Given the description of an element on the screen output the (x, y) to click on. 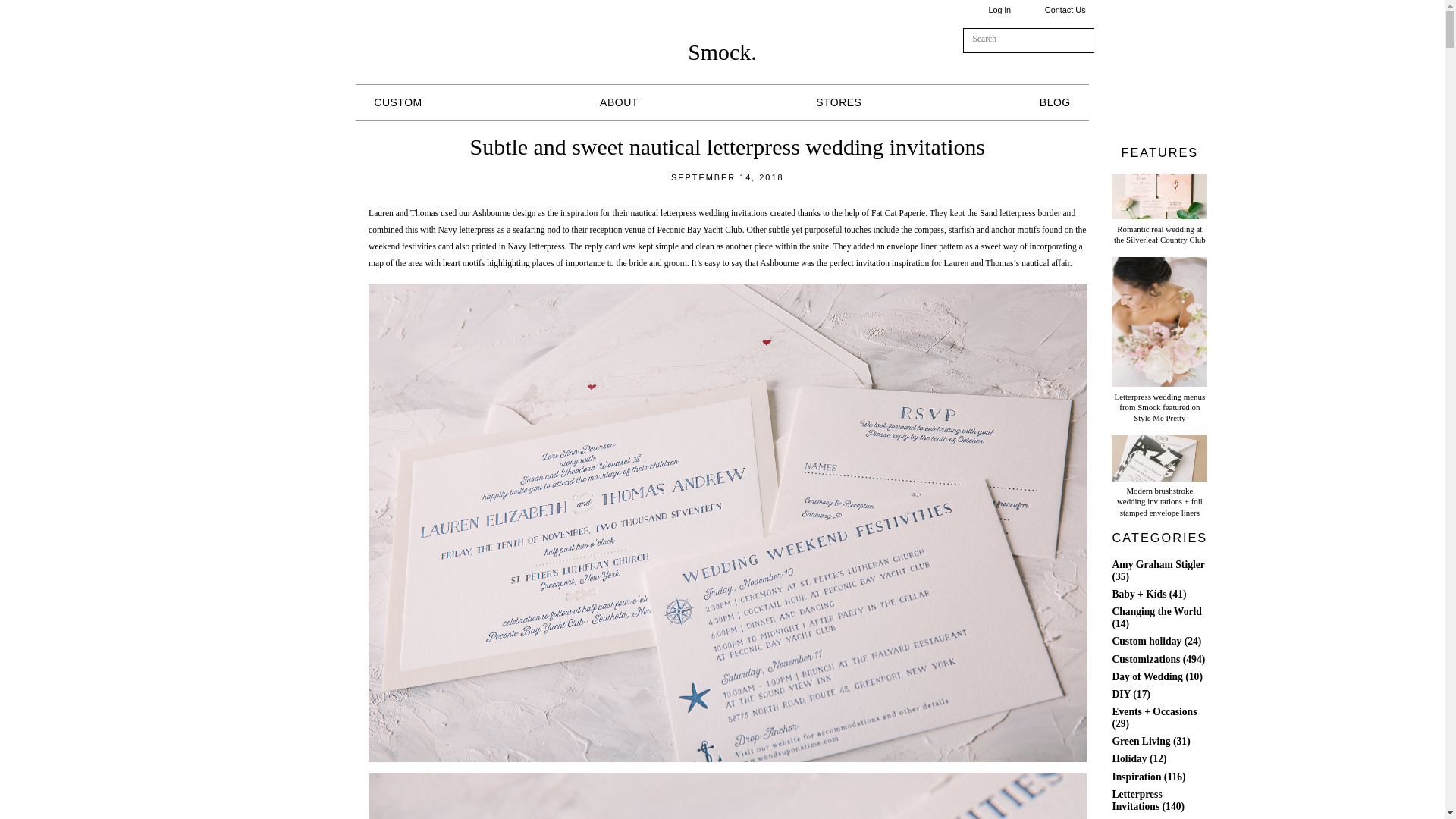
Contact Us (1065, 9)
Smock. (722, 51)
Fat Cat Paperie (897, 213)
STORES (838, 102)
Log in (999, 9)
BLOG (1054, 102)
Subtle and sweet nautical letterpress wedding invitations (727, 146)
Ashbourne (491, 213)
ABOUT (619, 102)
CUSTOM (398, 102)
